Given the description of an element on the screen output the (x, y) to click on. 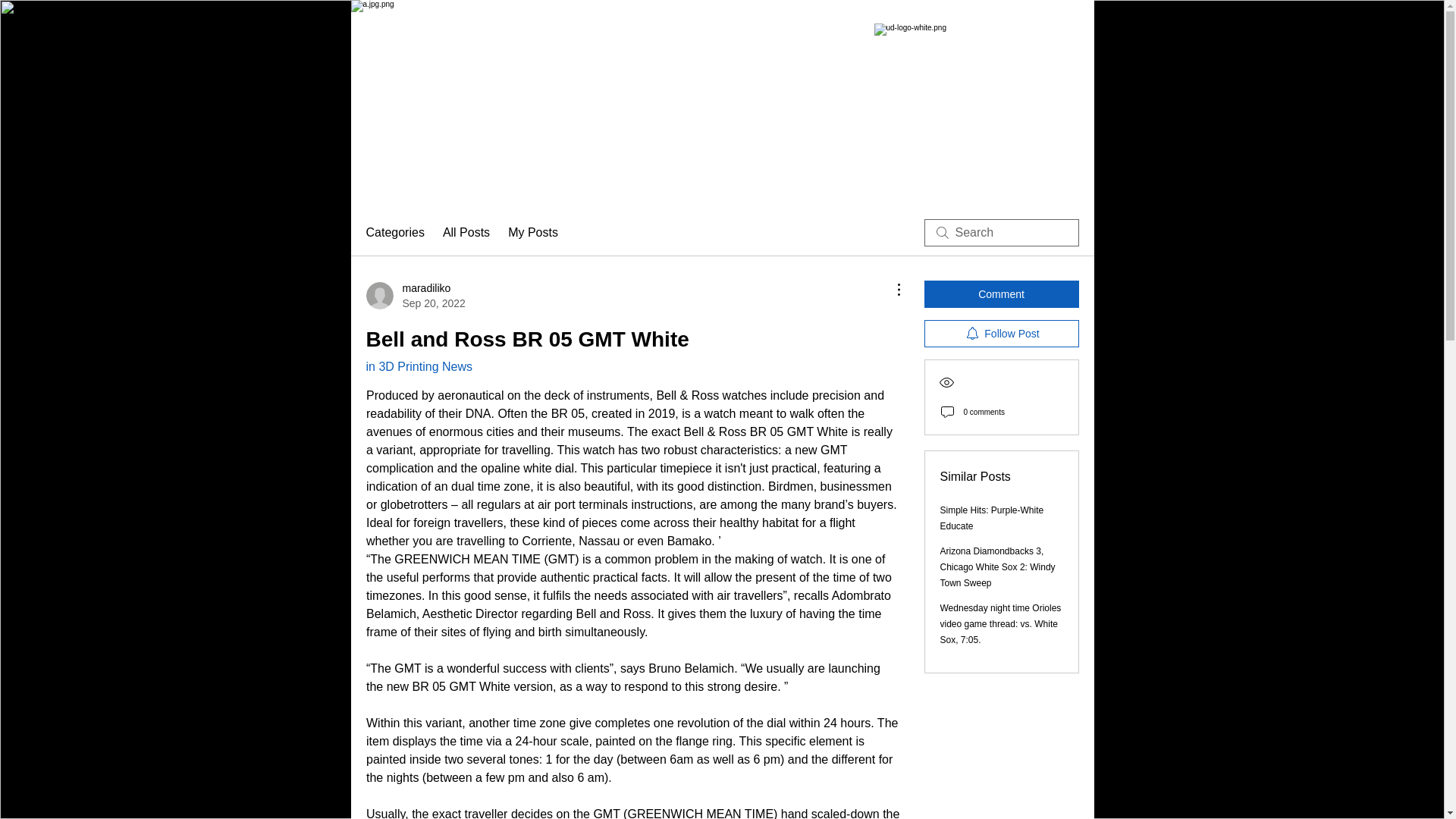
CONTACT (959, 183)
Blog (1005, 183)
All Posts (465, 232)
My Posts (532, 232)
RESEARCH (561, 183)
Categories (394, 232)
OPENING (903, 183)
SAFETY (414, 295)
in 3D Printing News (505, 183)
